Given the description of an element on the screen output the (x, y) to click on. 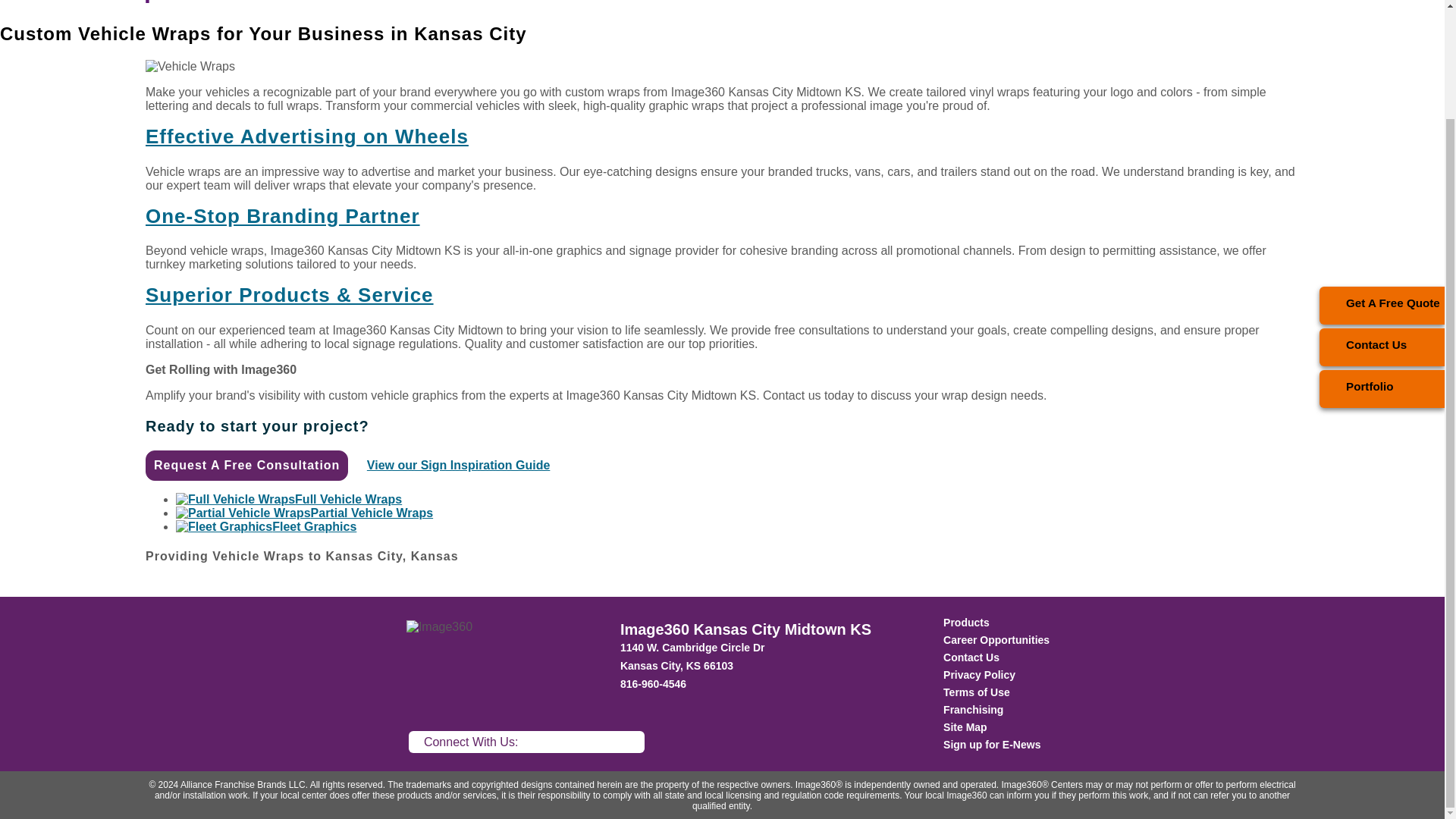
Request A free Consultation (246, 465)
